Given the description of an element on the screen output the (x, y) to click on. 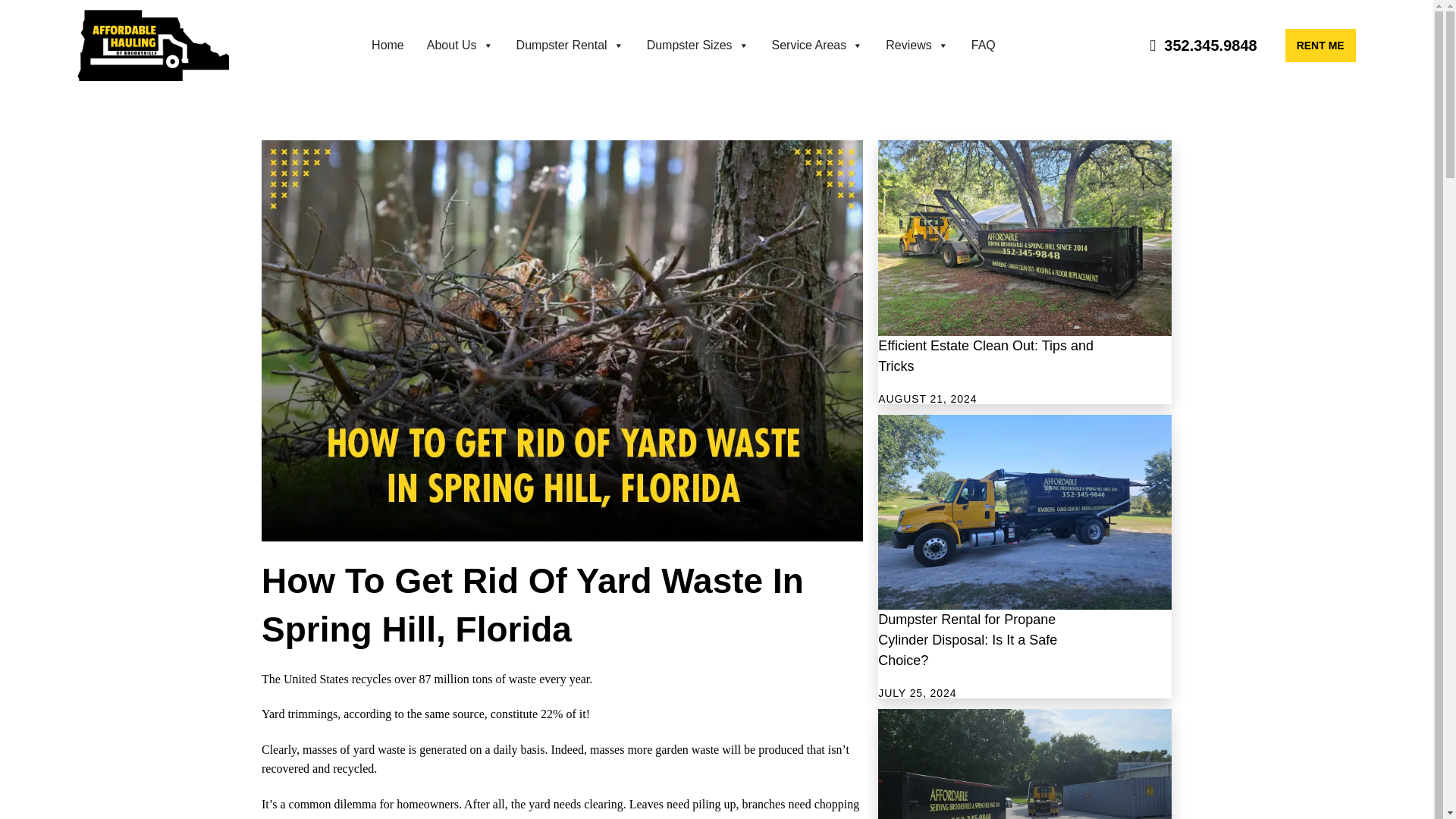
Home (388, 45)
Dumpster Sizes (698, 45)
Service Areas (817, 45)
About Us (459, 45)
Dumpster Rental (569, 45)
